Given the description of an element on the screen output the (x, y) to click on. 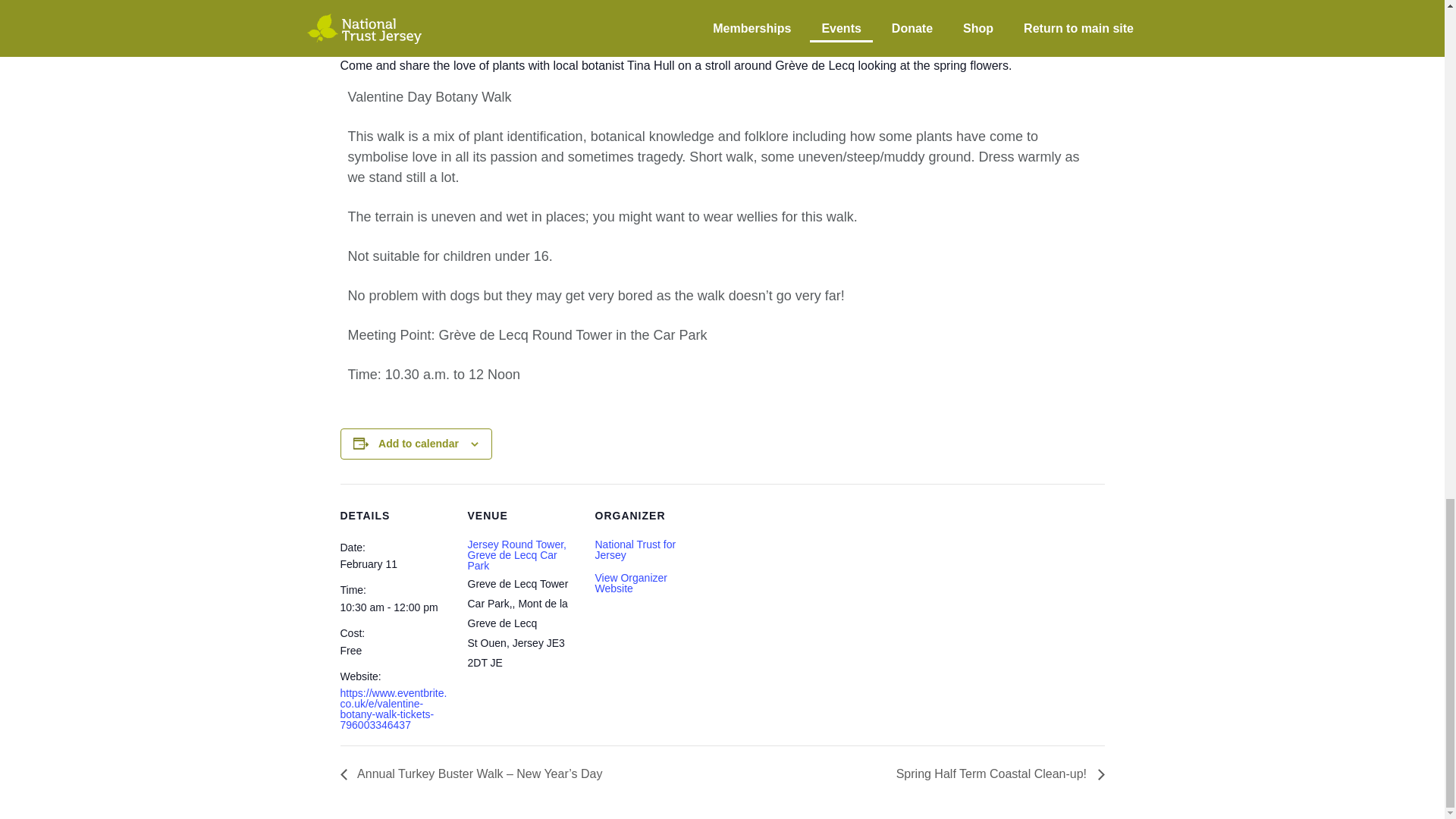
Jersey (527, 643)
National Trust for Jersey (634, 549)
Add to calendar (418, 443)
Jersey Round Tower, Greve de Lecq Car Park (516, 554)
2024-02-11 (393, 606)
Spring Half Term Coastal Clean-up! (996, 773)
2024-02-11 (367, 563)
View Organizer Website (630, 582)
National Trust for Jersey (634, 549)
